Given the description of an element on the screen output the (x, y) to click on. 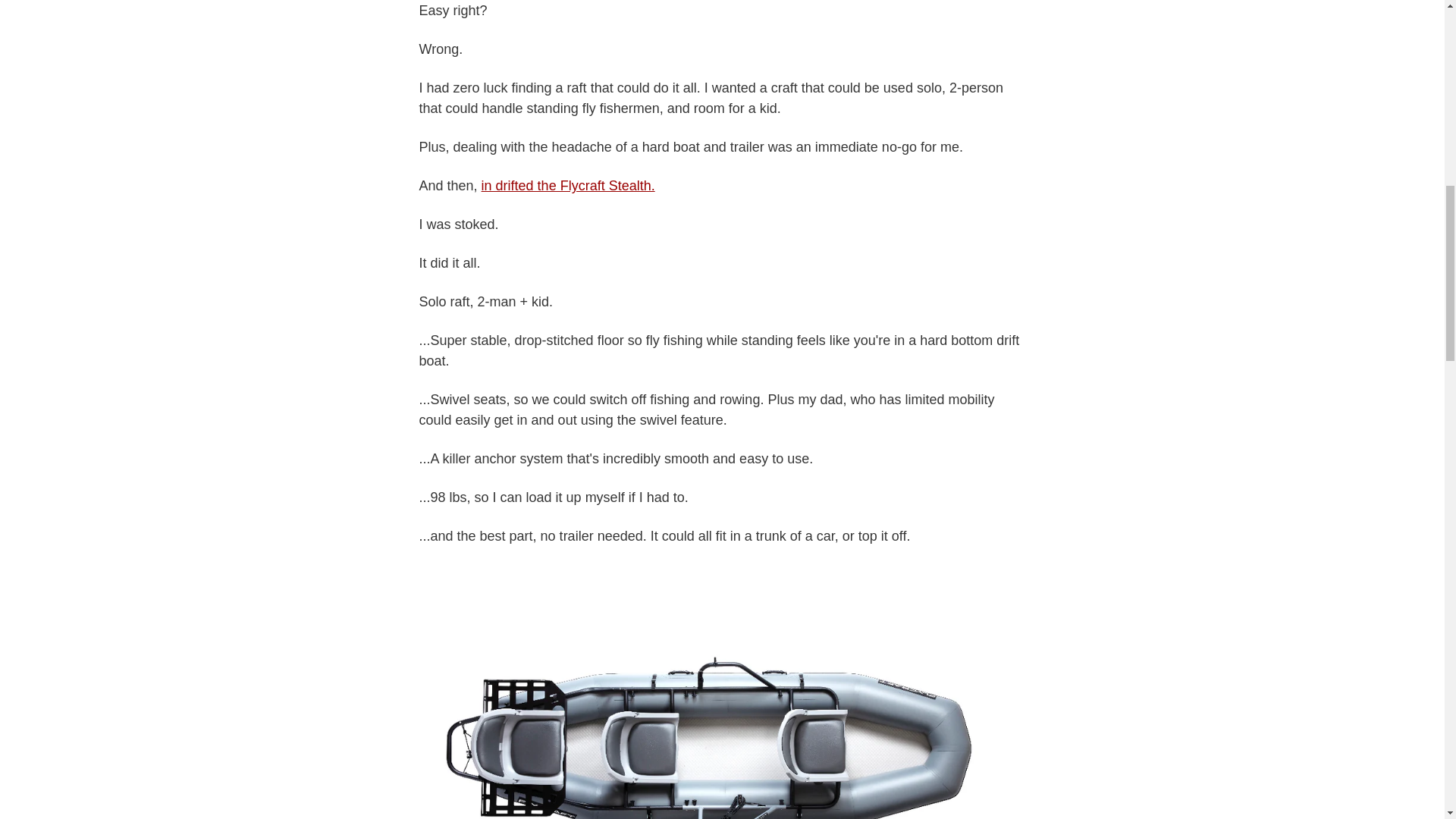
flycraft stealth inflatable drift boat (568, 185)
